Given the description of an element on the screen output the (x, y) to click on. 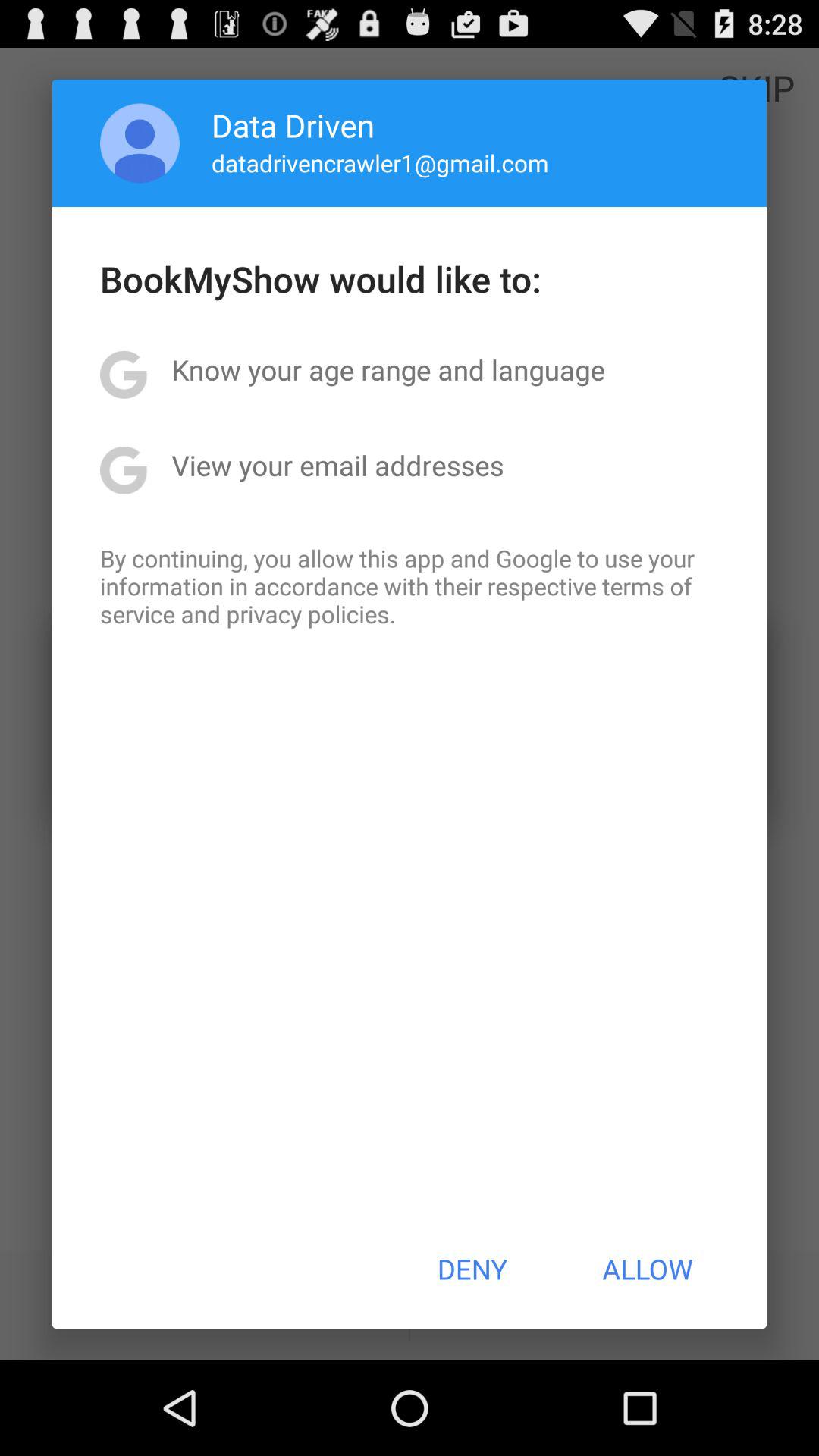
launch icon below the bookmyshow would like (388, 369)
